Given the description of an element on the screen output the (x, y) to click on. 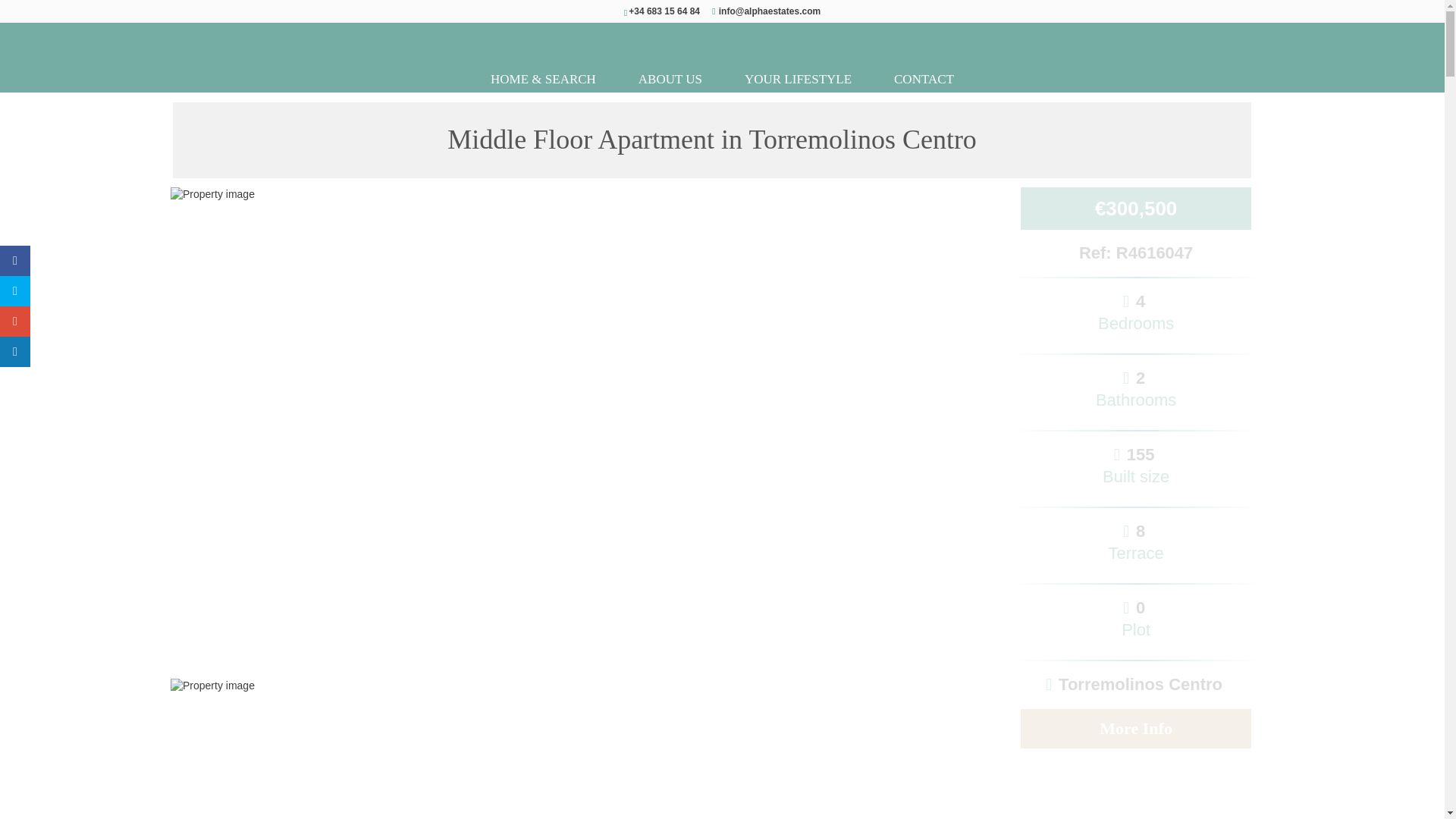
CONTACT (923, 79)
ABOUT US (670, 79)
YOUR LIFESTYLE (798, 79)
